Given the description of an element on the screen output the (x, y) to click on. 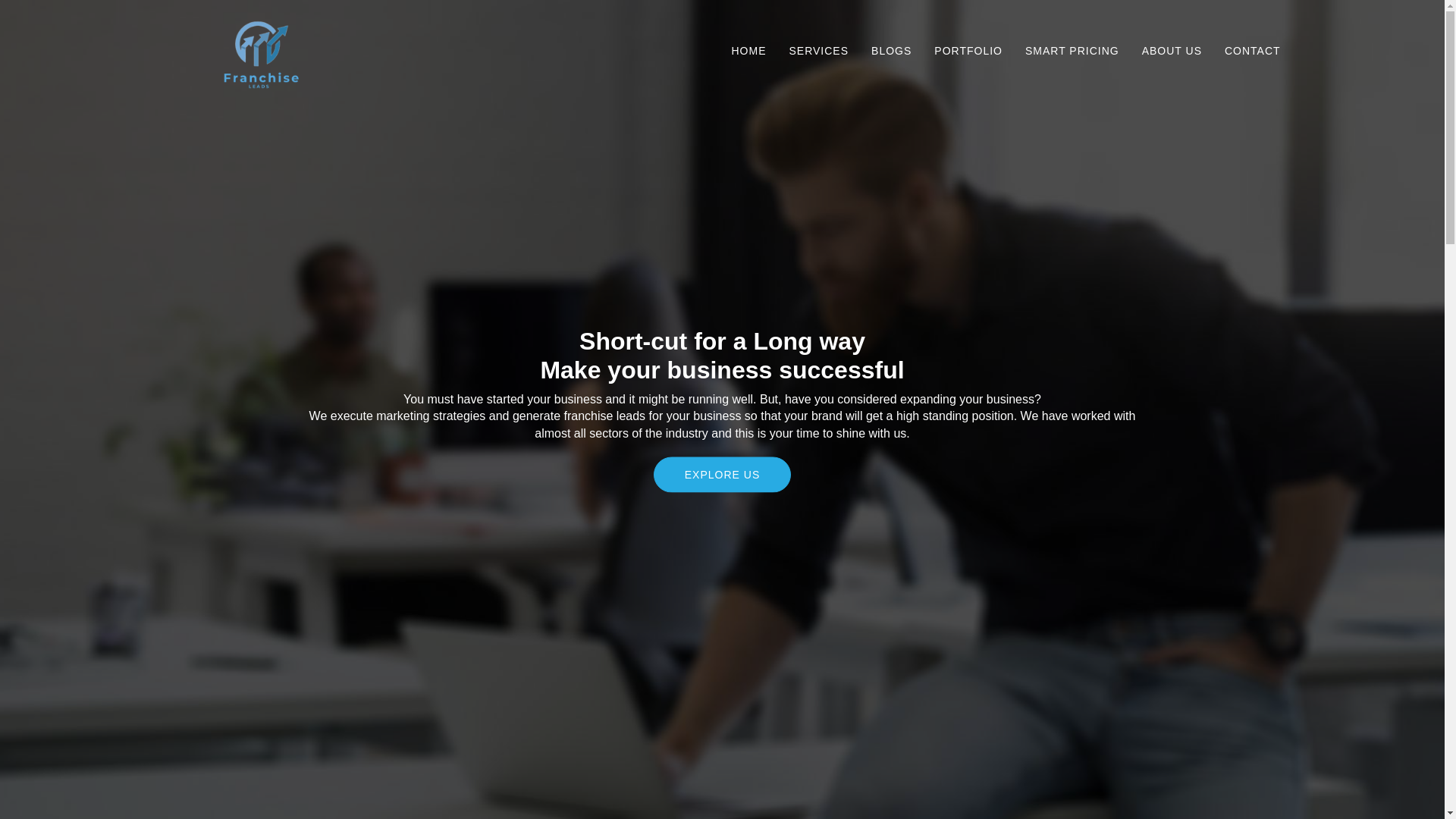
ABOUT US (1171, 50)
PORTFOLIO (968, 50)
SMART PRICING (1072, 50)
SERVICES (818, 50)
CONTACT (1252, 50)
BLOGS (891, 50)
HOME (748, 50)
